Given the description of an element on the screen output the (x, y) to click on. 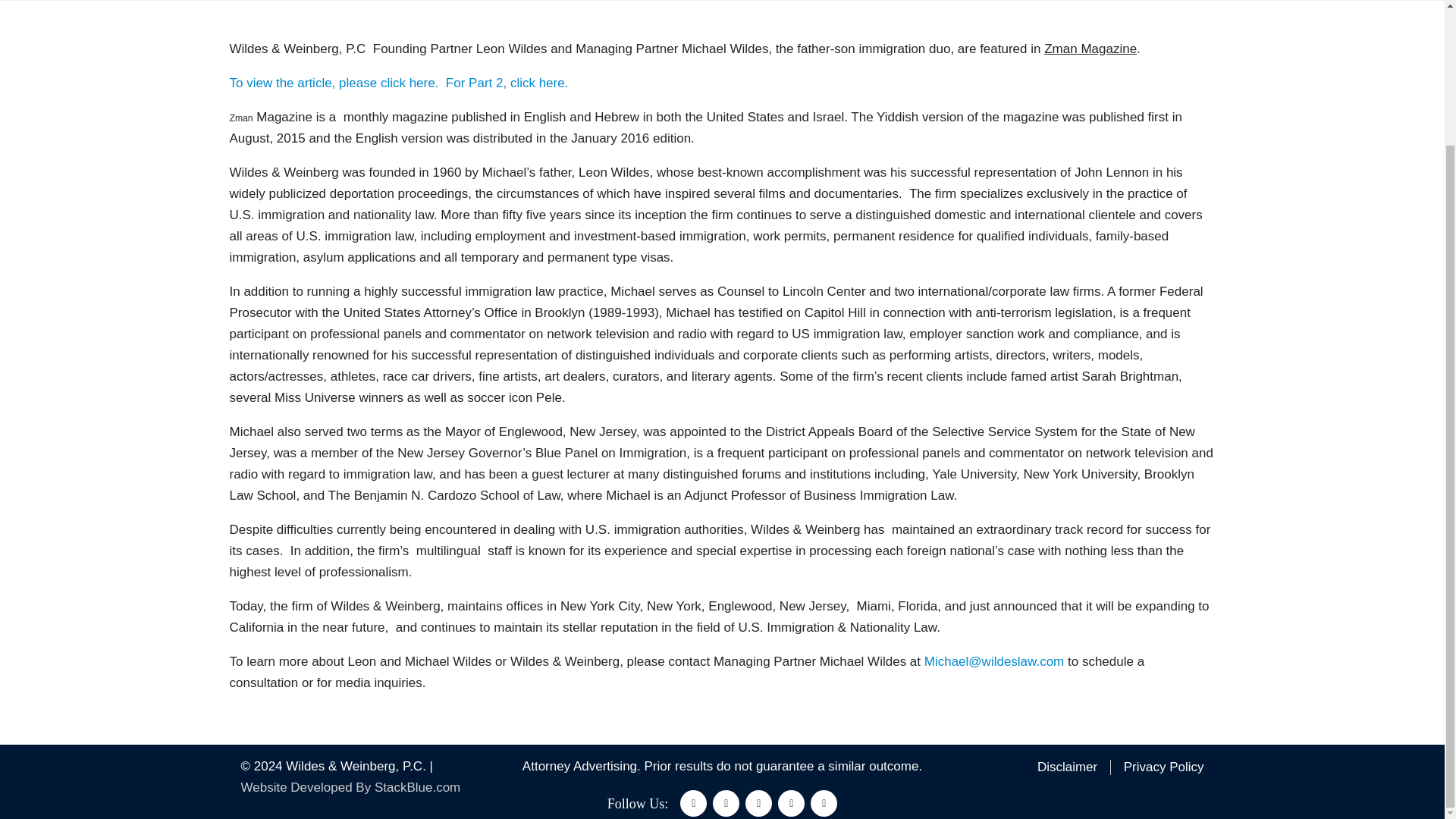
twitter (726, 803)
linkedin (758, 803)
youtube (823, 803)
instagram (791, 803)
facebook (692, 803)
